Given the description of an element on the screen output the (x, y) to click on. 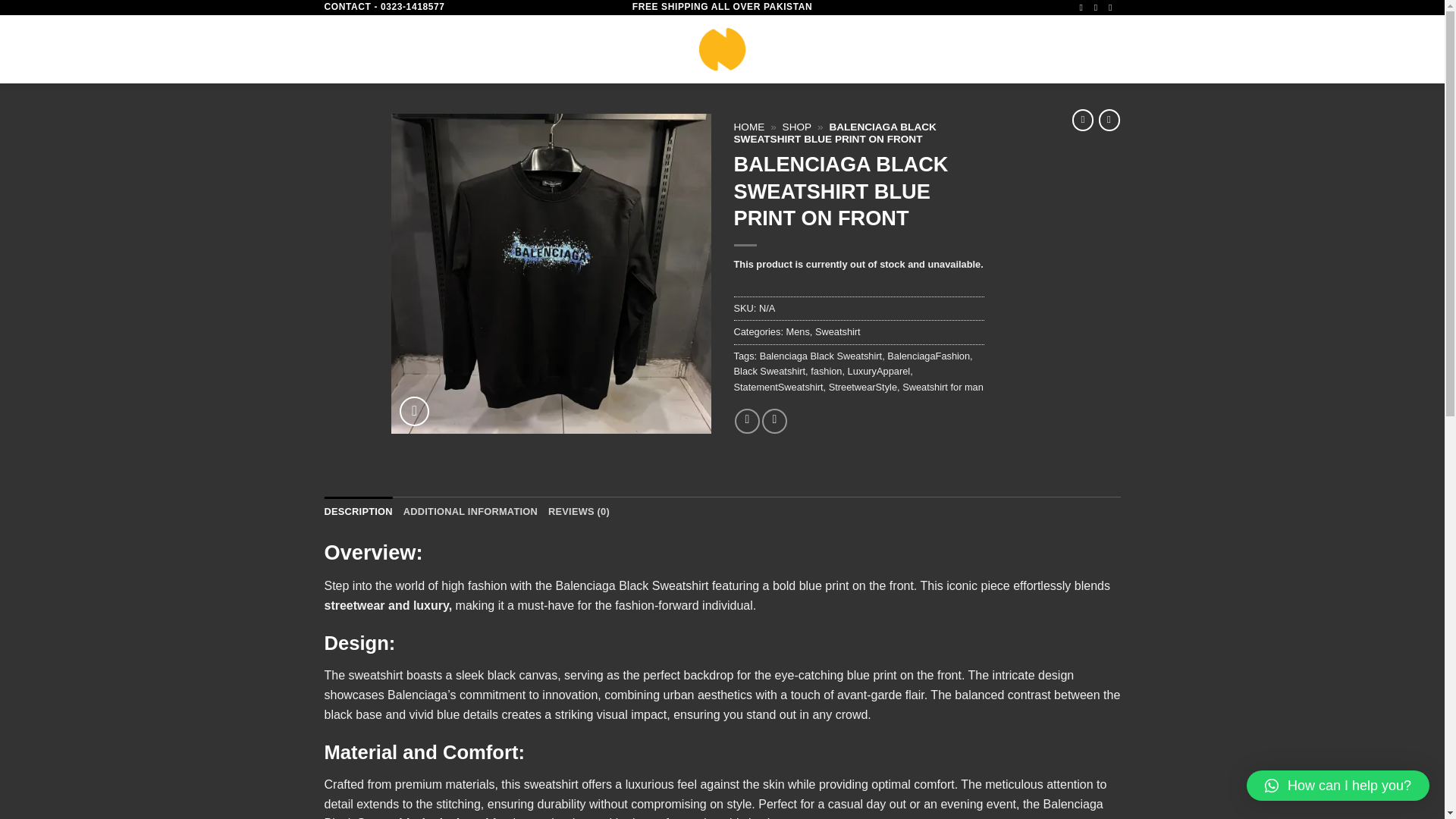
BalenciagaFashion (927, 355)
Login (1000, 49)
StatementSweatshirt (778, 387)
Sweatshirt (837, 331)
Mens (797, 331)
The Nucleus Clothing - Tshirts Jackets Hoodies Cap sneakers (721, 49)
Black Sweatshirt (769, 370)
HOME (749, 126)
Zoom (413, 410)
SHOP (797, 126)
LuxuryApparel (879, 370)
LOGIN (1000, 49)
Sweatshirt for man (943, 387)
Share on Facebook (747, 421)
Balenciaga Black Sweatshirt (821, 355)
